Given the description of an element on the screen output the (x, y) to click on. 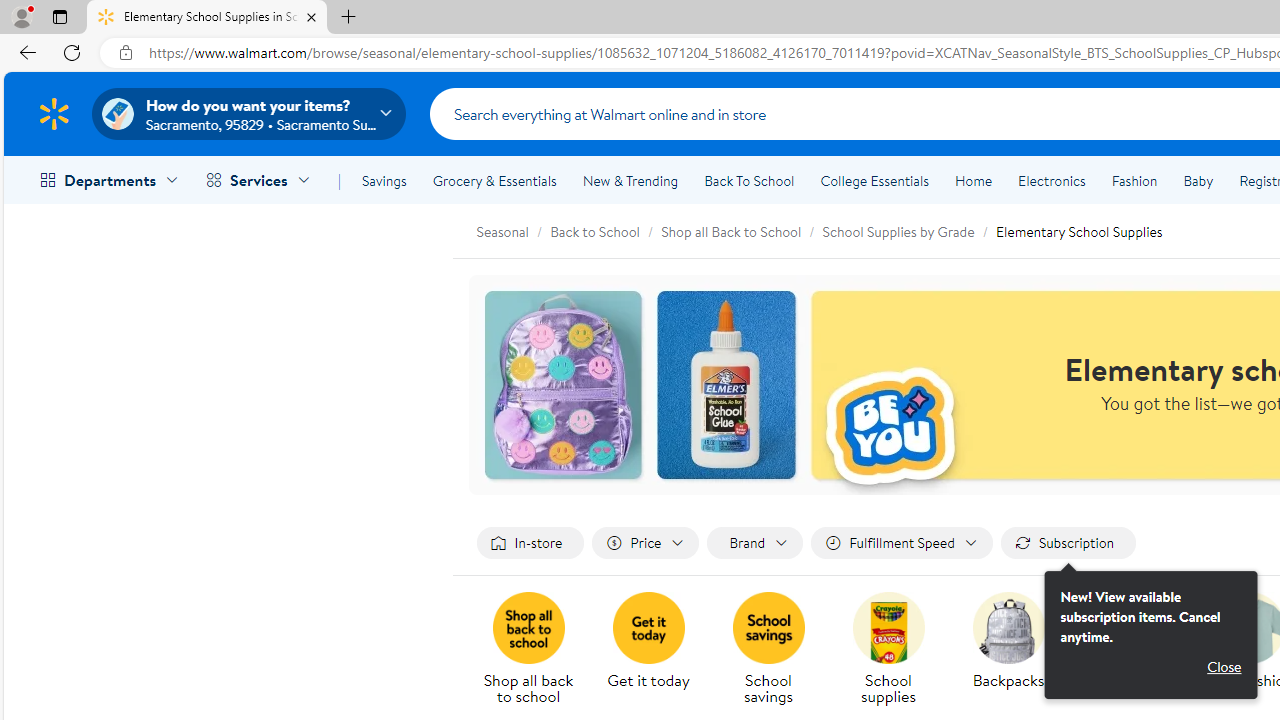
Grocery & Essentials (493, 180)
Get it today (647, 628)
Filter by Brand not applied, activate to change (754, 543)
Girls' fashion (1136, 650)
Electronics (1051, 180)
College Essentials (874, 180)
New & Trending (630, 180)
Fashion (1134, 180)
Savings (384, 180)
